Given the description of an element on the screen output the (x, y) to click on. 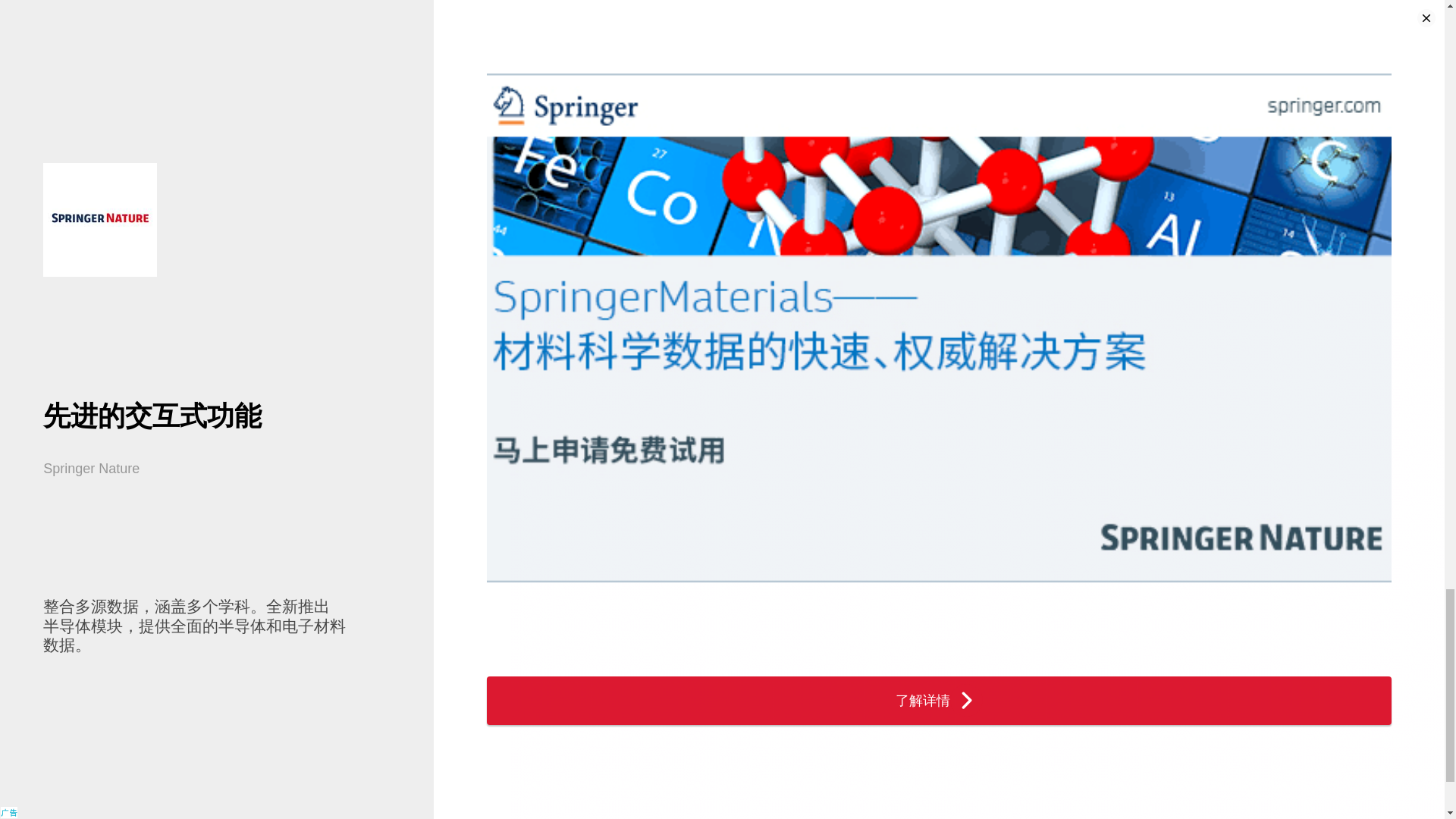
Subscribe (1067, 643)
